Given the description of an element on the screen output the (x, y) to click on. 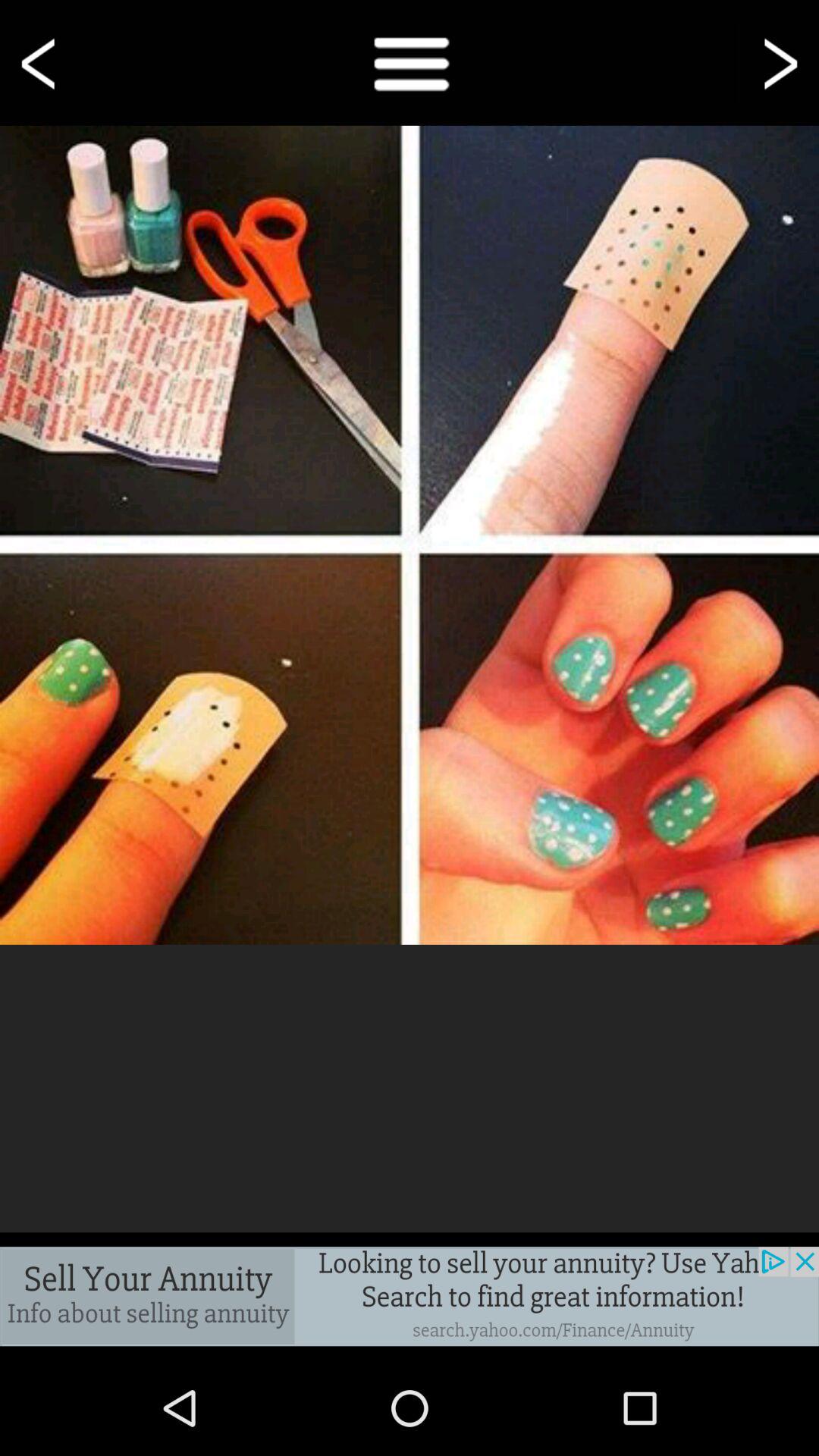
advertisement (409, 1296)
